Given the description of an element on the screen output the (x, y) to click on. 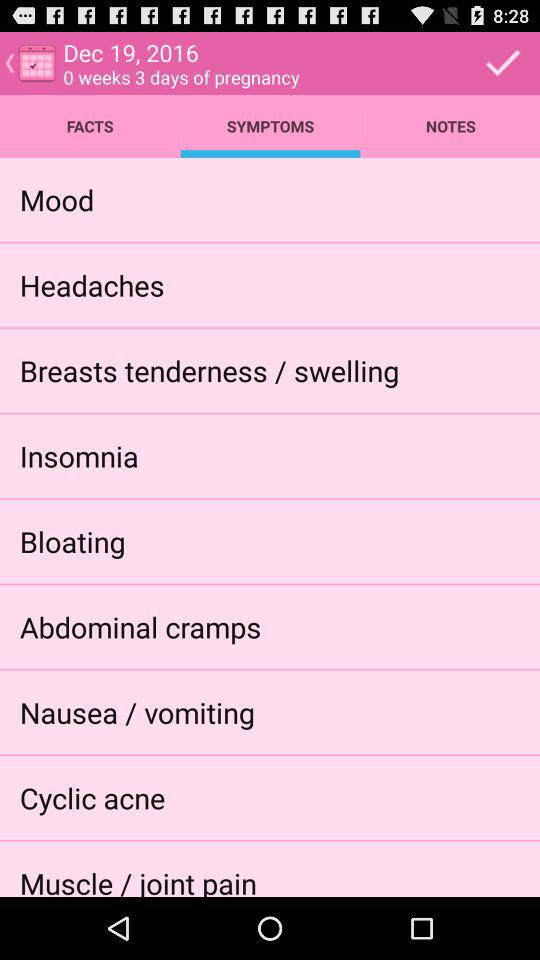
turn on the item below facts (56, 199)
